Given the description of an element on the screen output the (x, y) to click on. 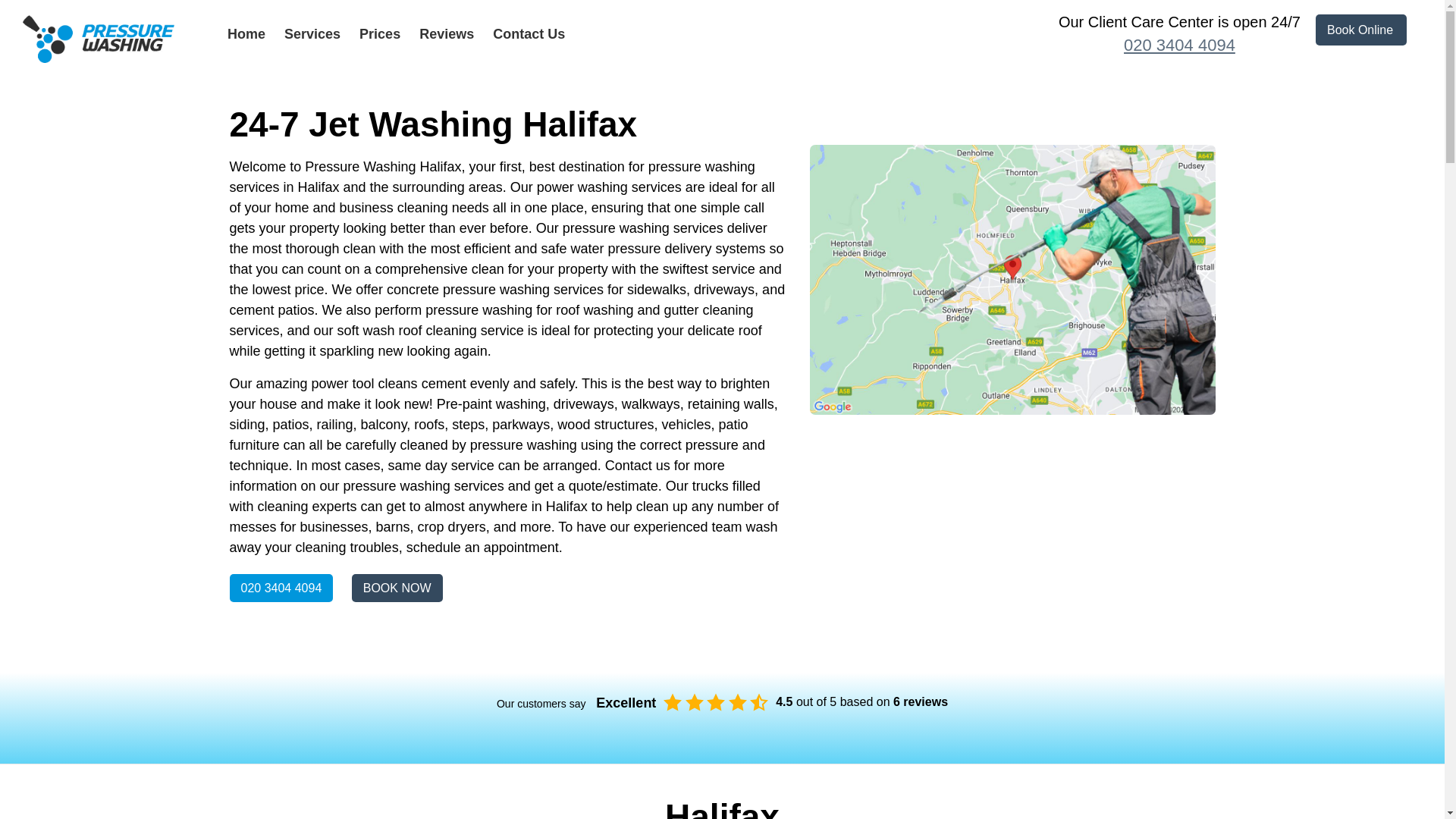
Home (245, 33)
Reviews (446, 33)
Prices (379, 33)
020 3404 4094 (1179, 45)
Services (311, 33)
BOOK NOW (397, 587)
Book Online (1361, 29)
020 3404 4094 (280, 587)
Contact Us (528, 33)
